Given the description of an element on the screen output the (x, y) to click on. 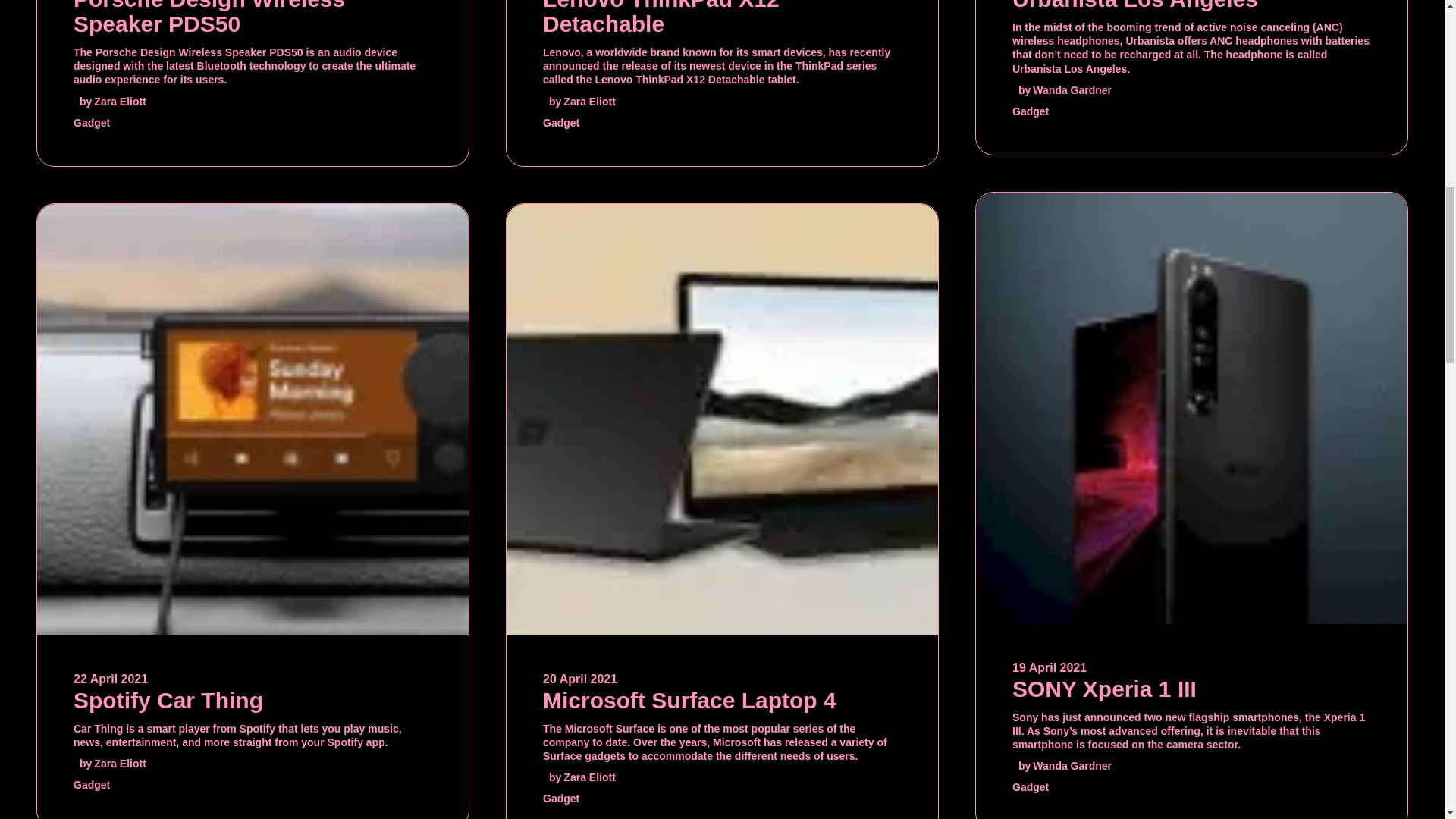
Microsoft Surface Laptop 4 (689, 699)
Gadget (92, 122)
Zara Eliott (588, 101)
Lenovo ThinkPad X12 Detachable (722, 18)
Gadget (561, 798)
Porsche Design Wireless Speaker PDS50 (253, 18)
Zara Eliott (119, 101)
Zara Eliott (119, 763)
Zara Eliott (588, 776)
Gadget (92, 784)
